Given the description of an element on the screen output the (x, y) to click on. 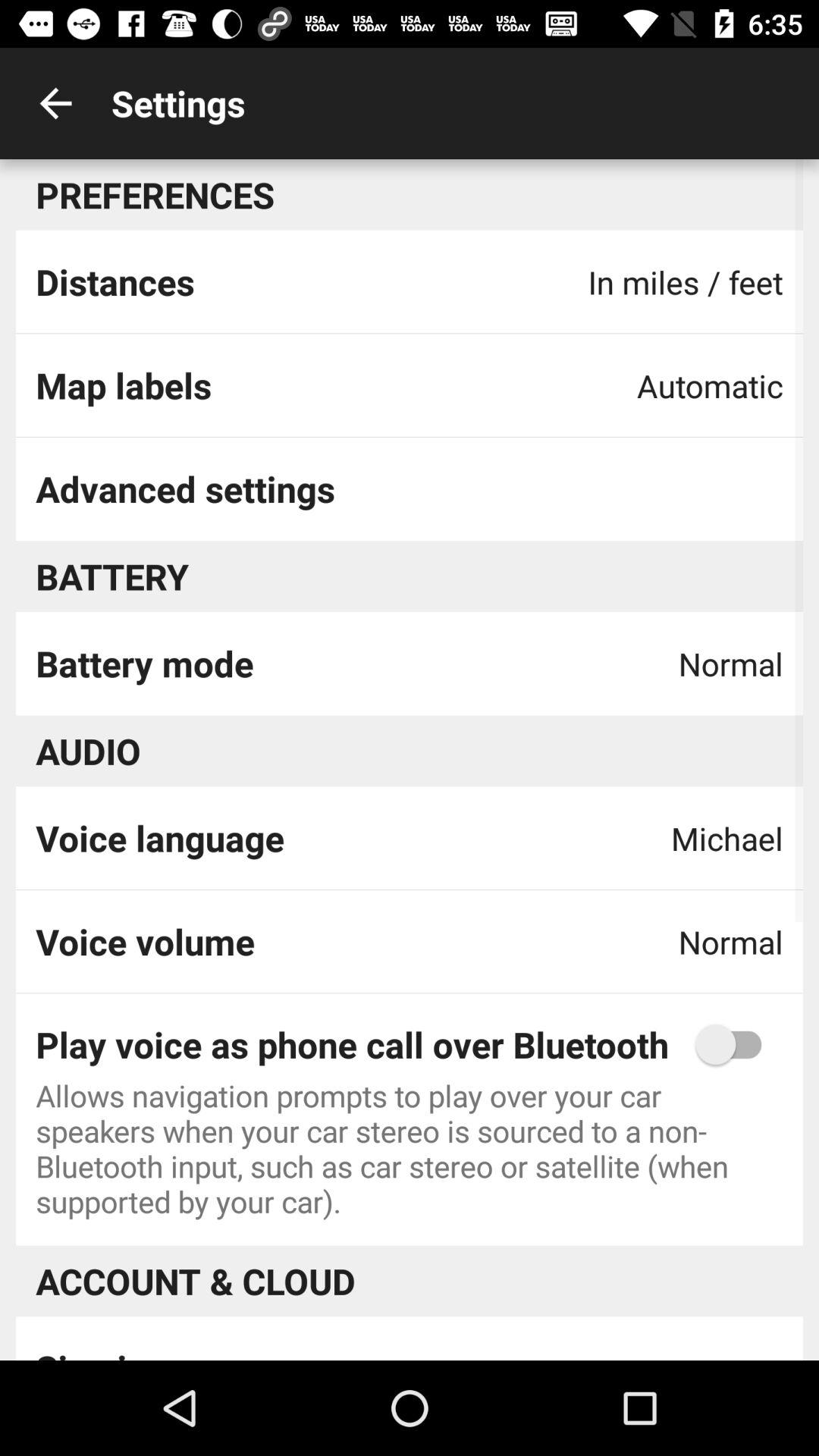
select the item next to the normal app (144, 663)
